Given the description of an element on the screen output the (x, y) to click on. 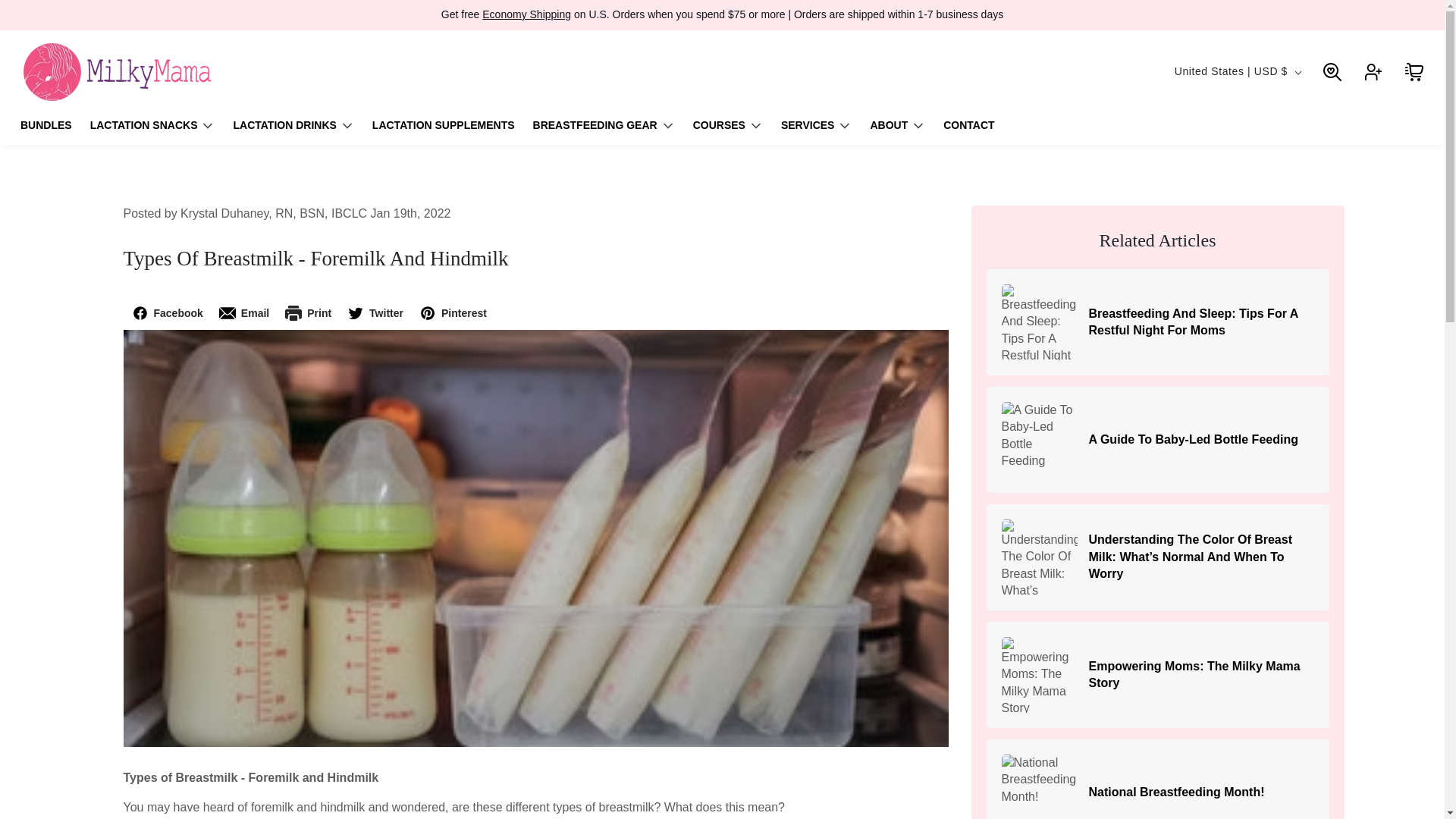
Economy Shipping (525, 14)
Store Policies (525, 14)
Skip to content (45, 17)
Print (307, 313)
